Given the description of an element on the screen output the (x, y) to click on. 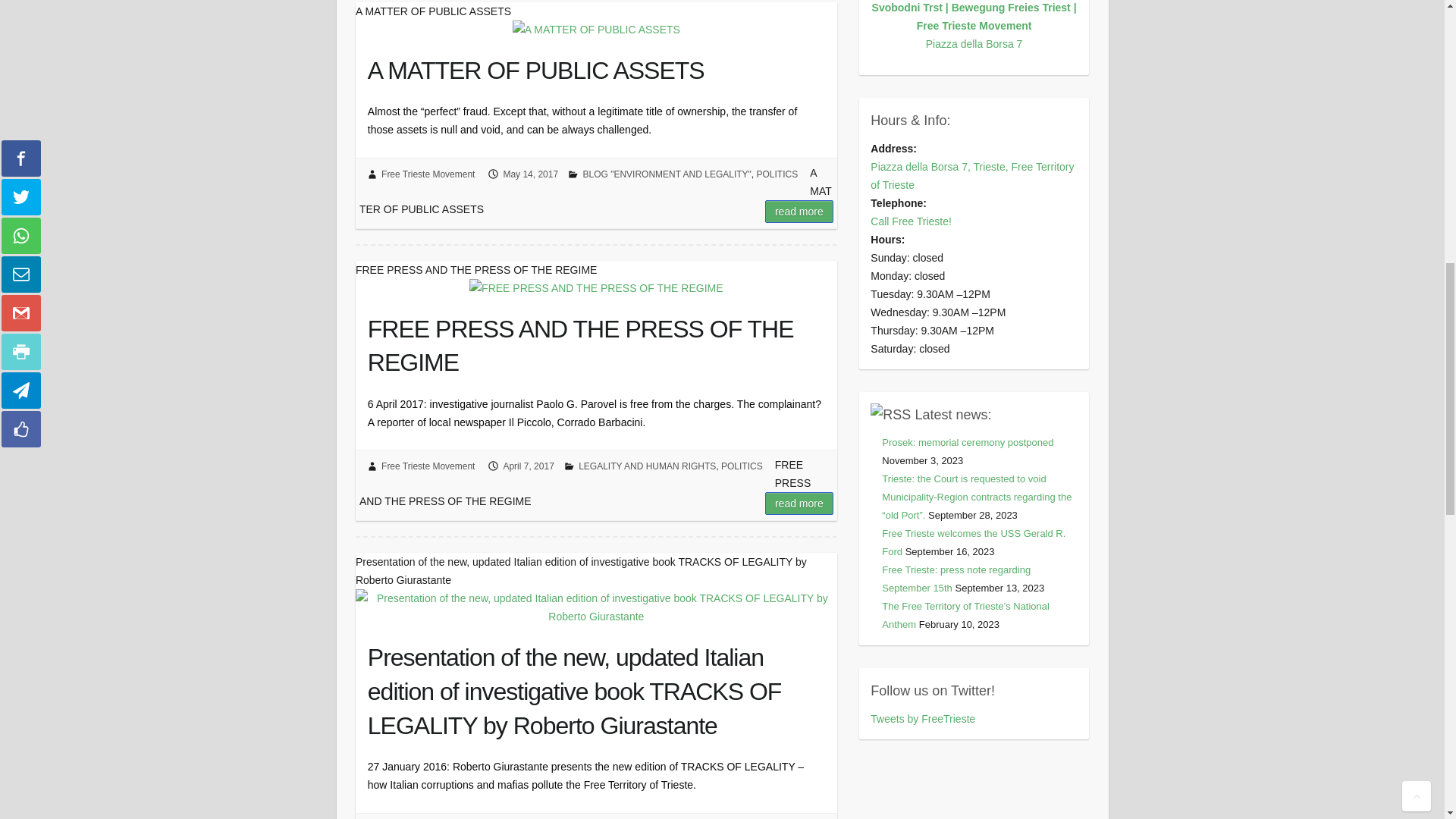
A MATTER OF PUBLIC ASSETS (596, 66)
A MATTER OF PUBLIC ASSETS (595, 29)
